Given the description of an element on the screen output the (x, y) to click on. 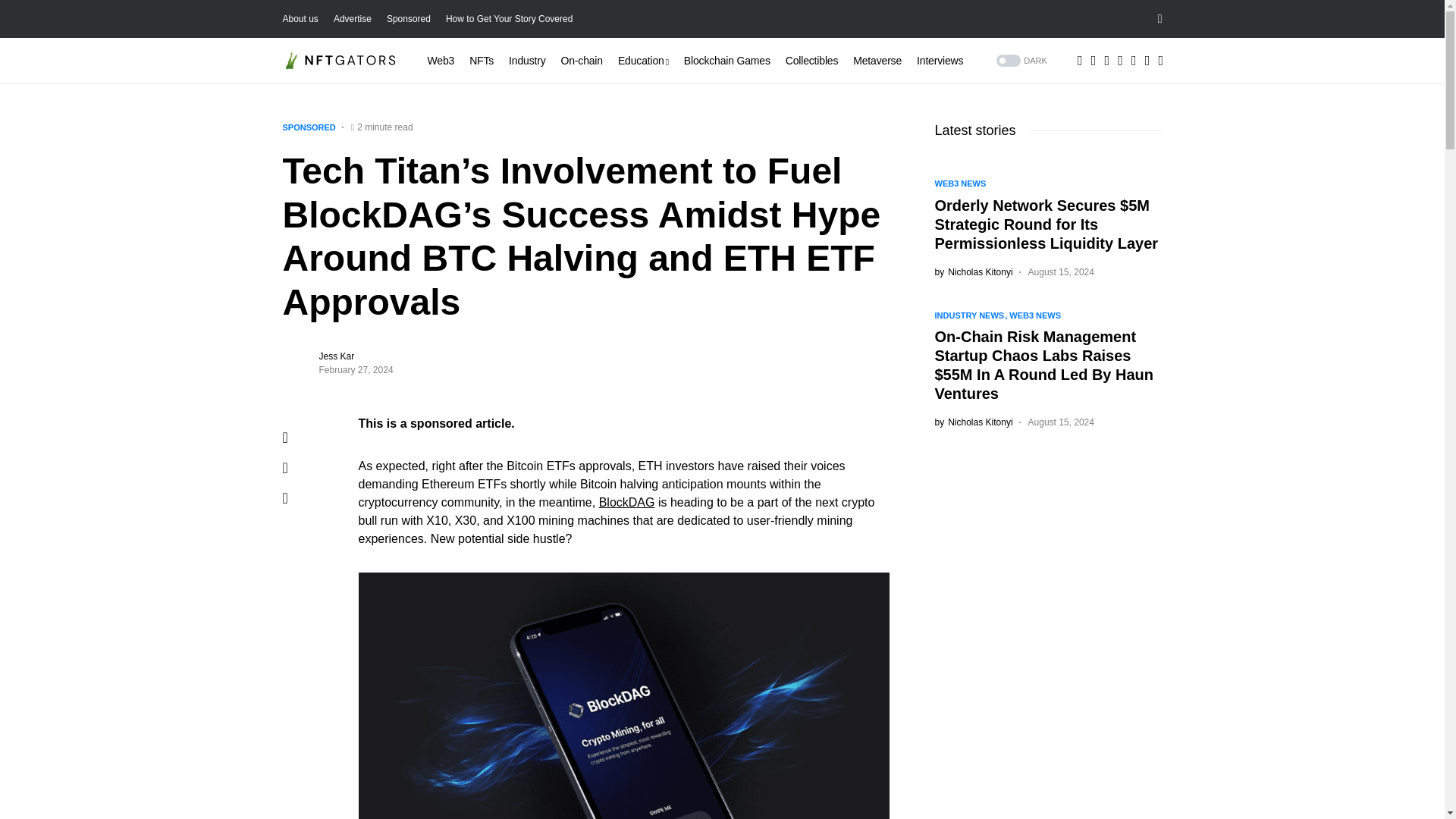
Advertise (352, 18)
About us (299, 18)
Education (642, 60)
How to Get Your Story Covered (508, 18)
Collectibles (812, 60)
Metaverse (877, 60)
Interviews (939, 60)
View all posts by Nicholas Kitonyi (972, 272)
On-chain (581, 60)
Blockchain Games (727, 60)
